Given the description of an element on the screen output the (x, y) to click on. 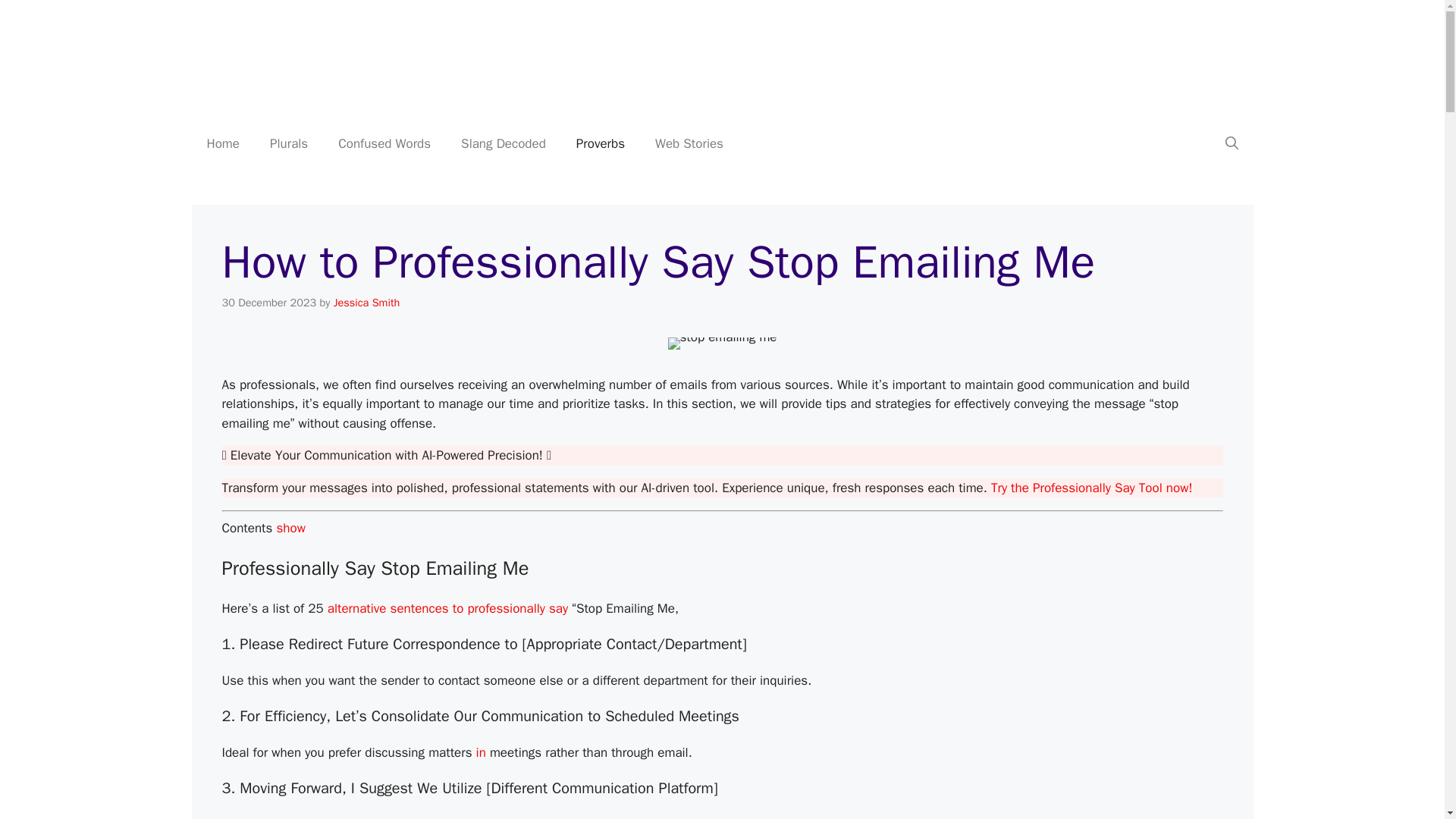
View all posts by Jessica Smith (366, 302)
Jessica Smith (366, 302)
show (290, 528)
Try the Professionally Say Tool now! (1091, 487)
Confused Words (384, 144)
Home (221, 144)
Slang Decoded (502, 144)
Proverbs (600, 144)
Web Stories (689, 144)
How to Professionally Say Stop Emailing Me 1 (721, 336)
Plurals (288, 144)
in (481, 752)
